Given the description of an element on the screen output the (x, y) to click on. 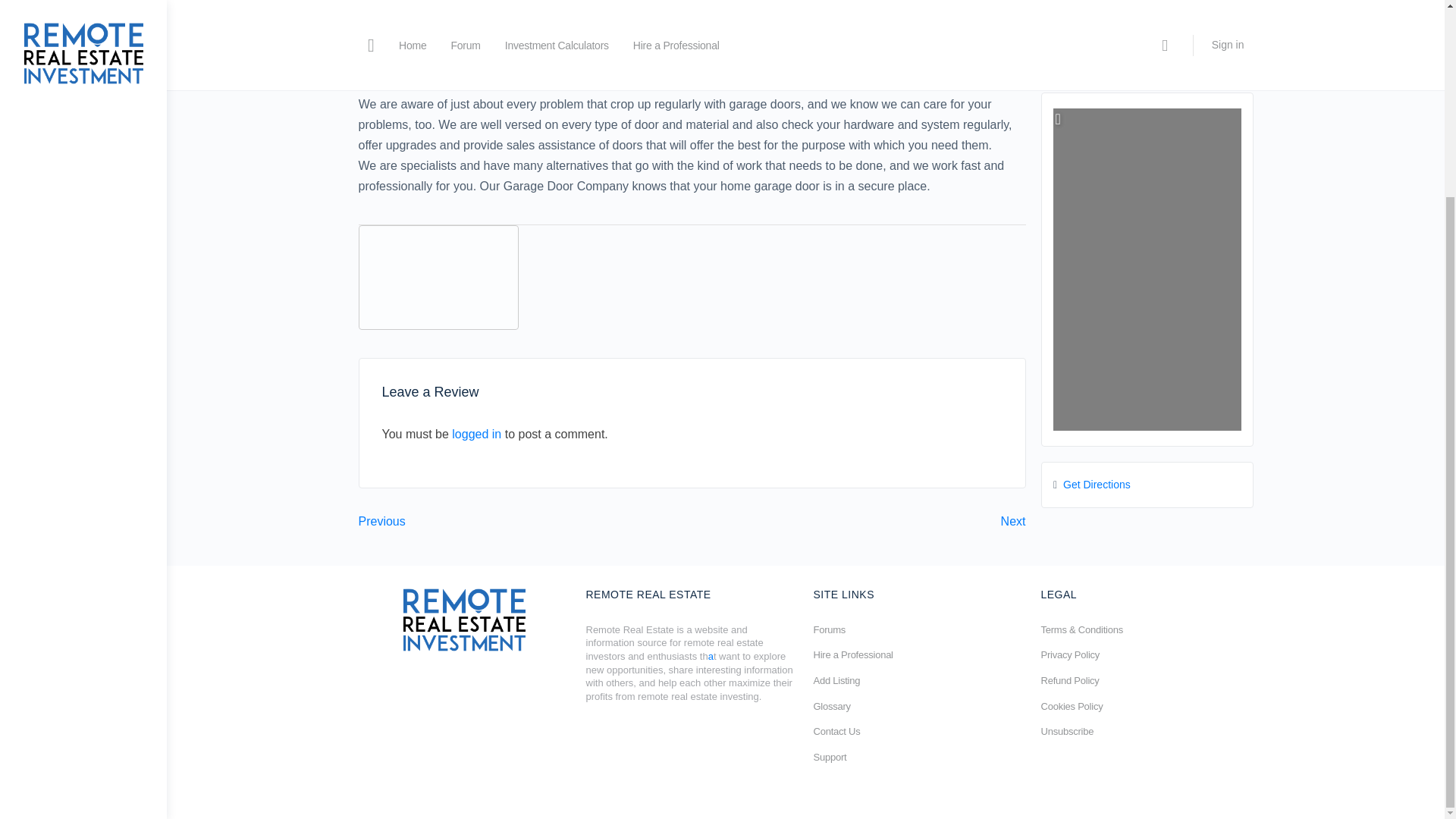
Next (1013, 521)
Profile (385, 61)
Garage Door Services (617, 33)
Is Claimed? (520, 60)
Get Directions (1096, 484)
Garage Door Repair (476, 33)
Hire a Professional (852, 654)
logged in (475, 433)
Previous (381, 521)
Contact (446, 60)
